Given the description of an element on the screen output the (x, y) to click on. 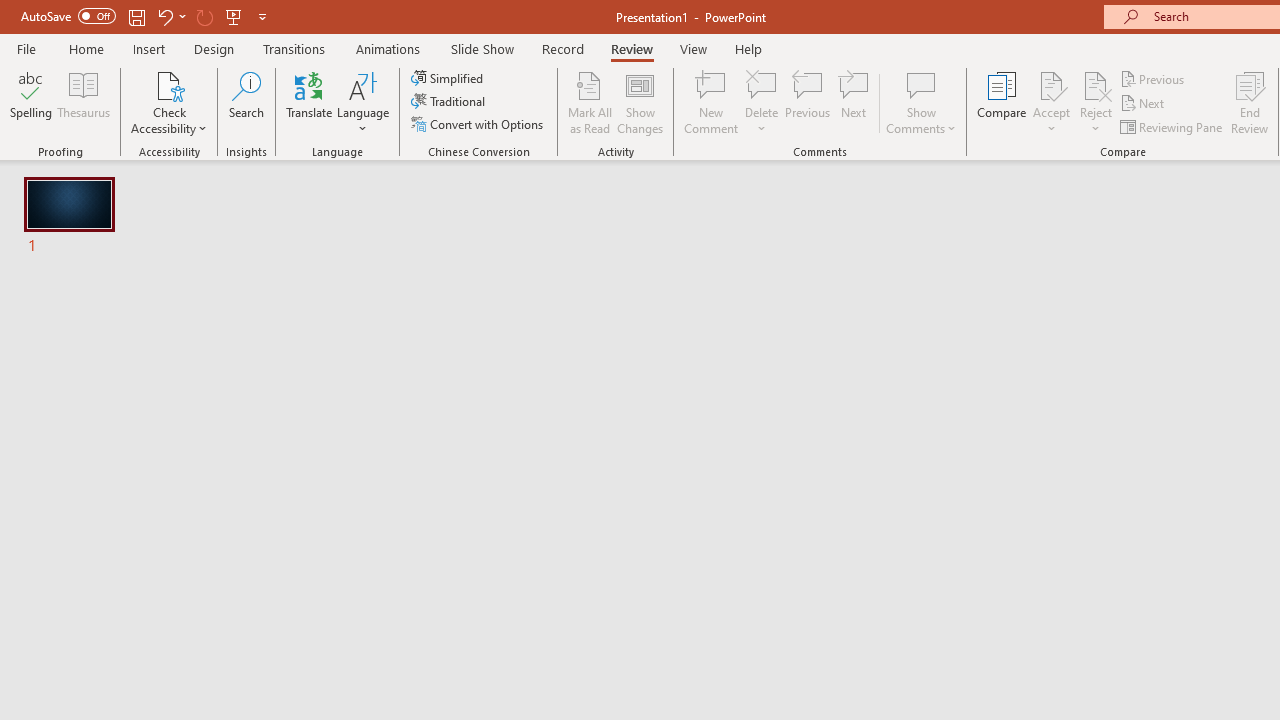
Simplified (449, 78)
Reject (1096, 102)
Traditional (449, 101)
Convert with Options... (479, 124)
Language (363, 102)
